Given the description of an element on the screen output the (x, y) to click on. 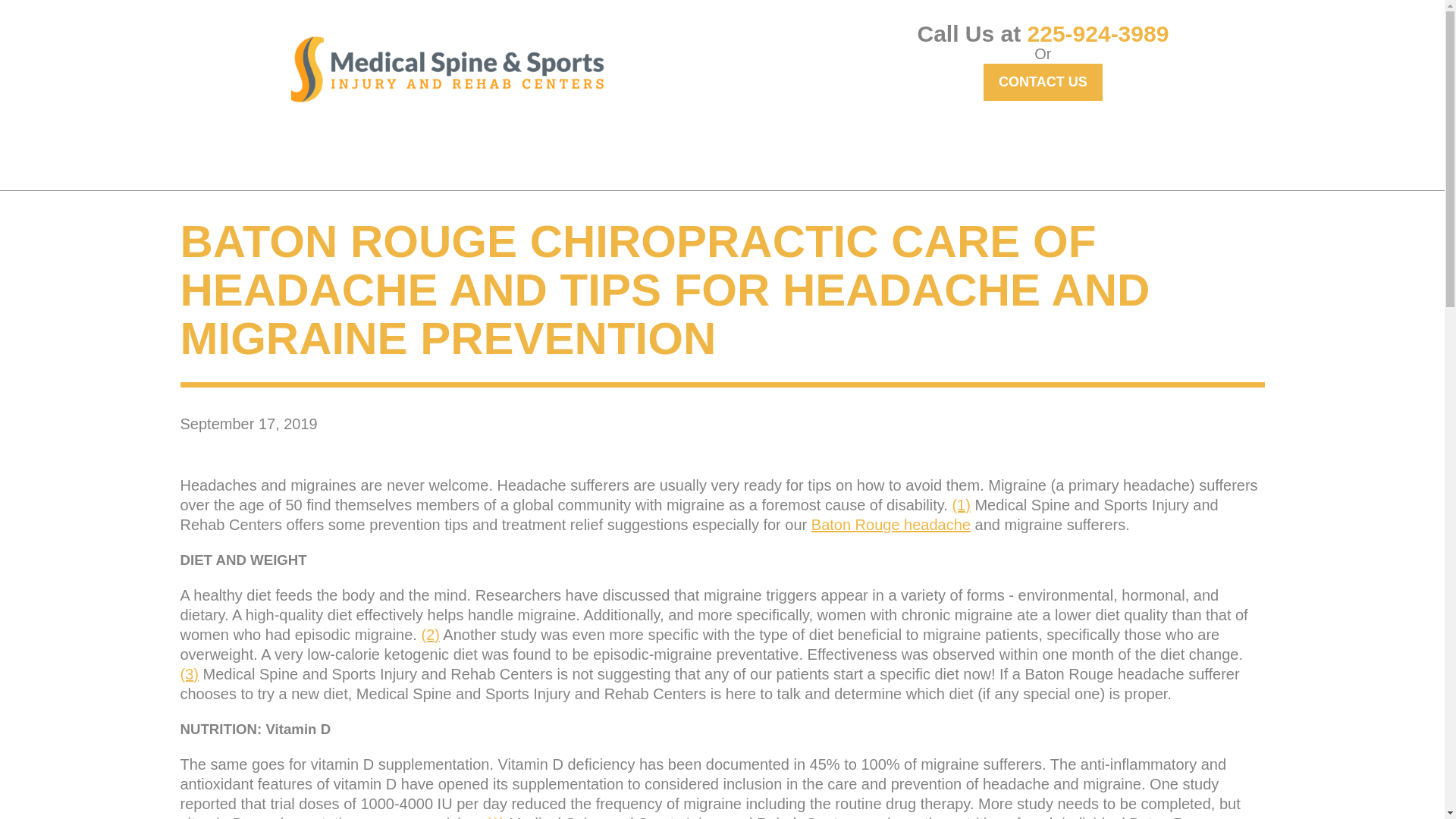
CONTACT US (1043, 81)
225-924-3989 (1098, 33)
Medical Spine and Sports Injury and Rehab Centers Home (446, 69)
GET RELIEF (353, 153)
ID YOUR PAIN (467, 153)
